Given the description of an element on the screen output the (x, y) to click on. 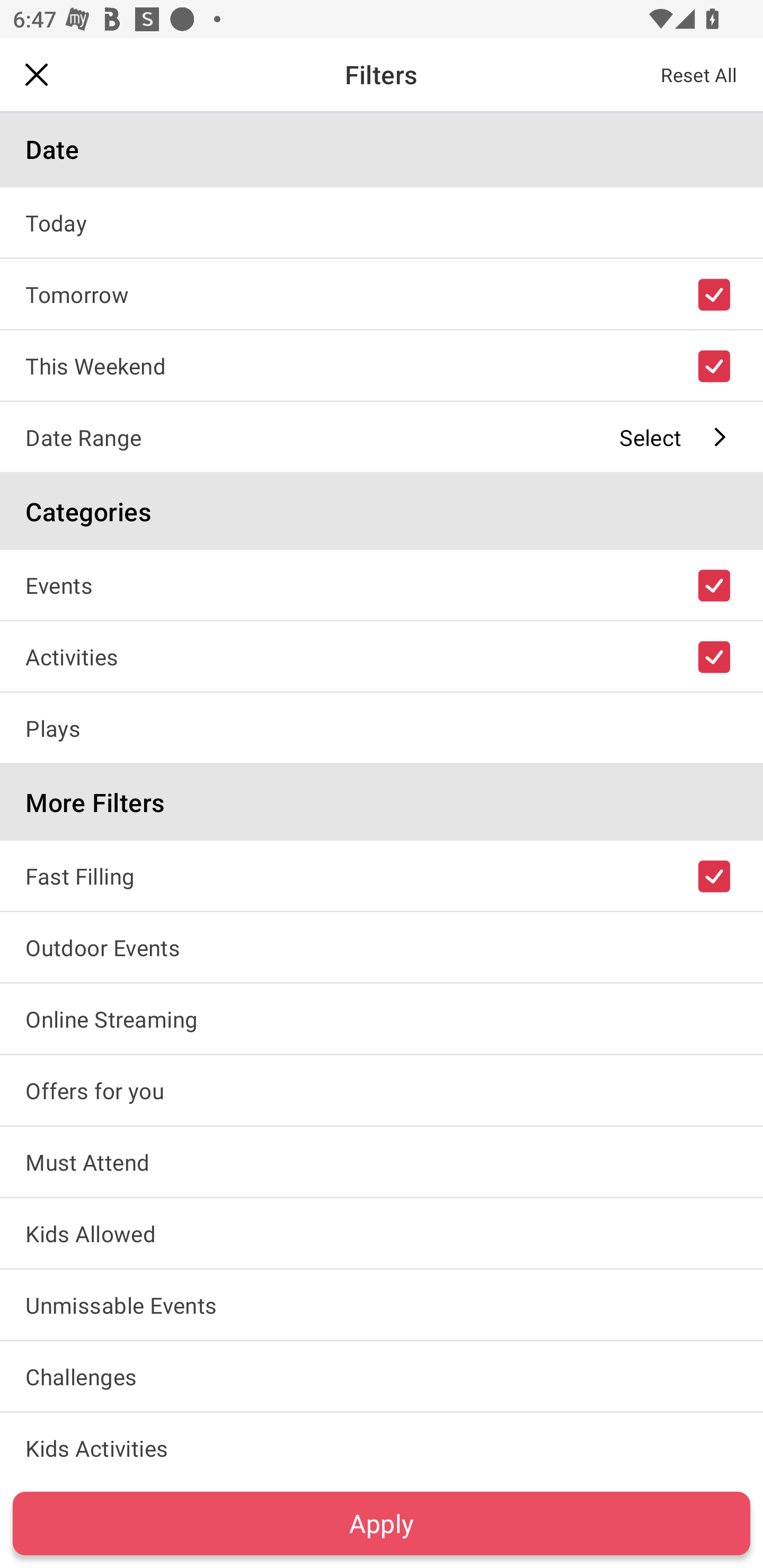
Close (36, 74)
Reset All (699, 74)
Today (381, 222)
Tomorrow  (381, 293)
This Weekend  (381, 364)
Date Range Select  Next (381, 436)
Events  (381, 584)
Activities  (381, 655)
Plays (381, 727)
Fast Filling  (381, 875)
Outdoor Events (381, 946)
Online Streaming (381, 1018)
Offers for you (381, 1090)
Must Attend (381, 1161)
Kids Allowed (381, 1232)
Unmissable Events (381, 1304)
Challenges (381, 1375)
Kids Activities (381, 1445)
Apply (381, 1523)
